Given the description of an element on the screen output the (x, y) to click on. 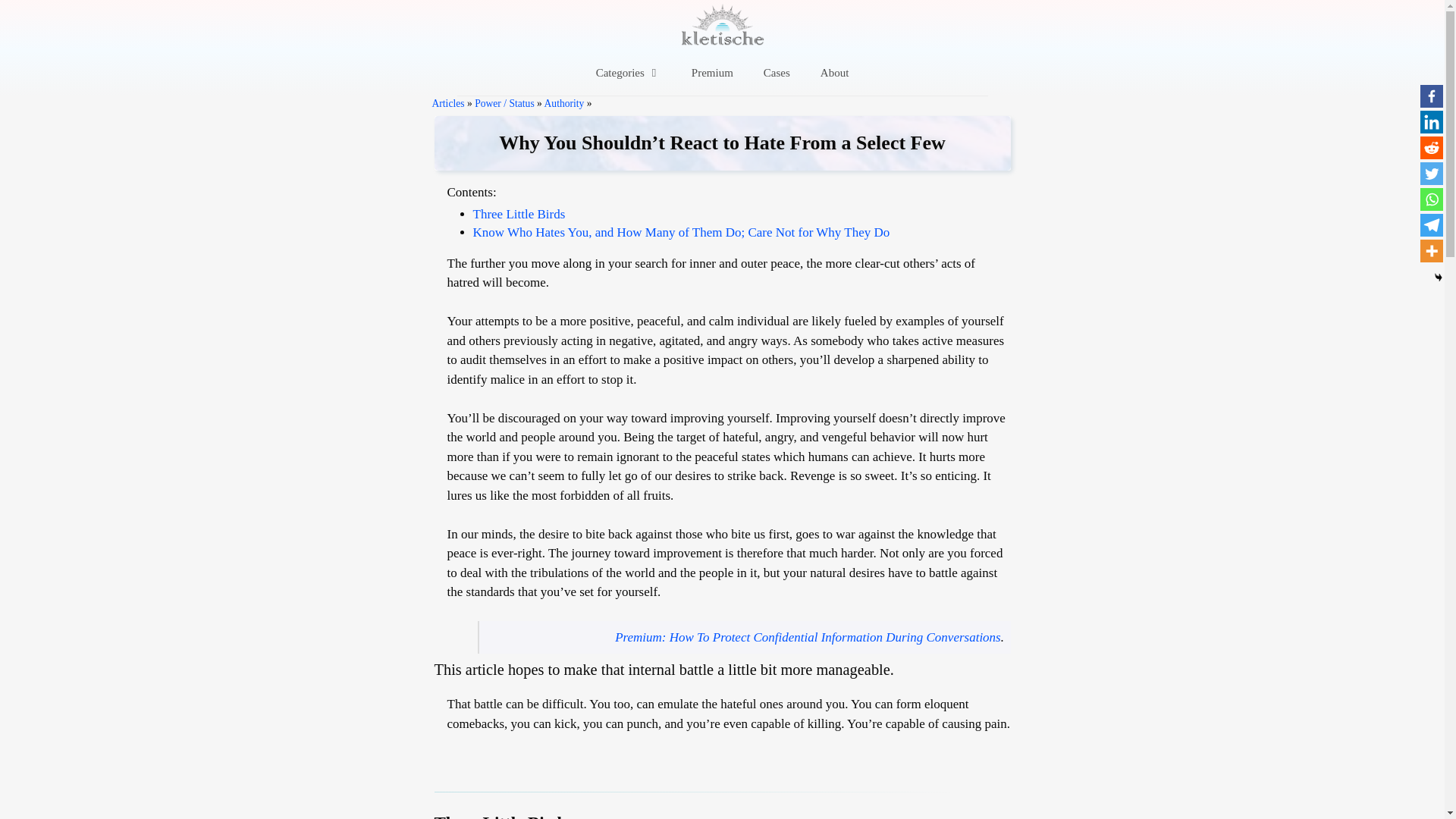
Premium (712, 72)
Twitter (1431, 173)
Categories (628, 72)
Cases (776, 72)
Articles (448, 102)
Three Little Birds (519, 214)
About (834, 72)
Telegram (1431, 224)
Kletische (722, 24)
Authority (564, 102)
Reddit (1431, 147)
More (1431, 250)
